Given the description of an element on the screen output the (x, y) to click on. 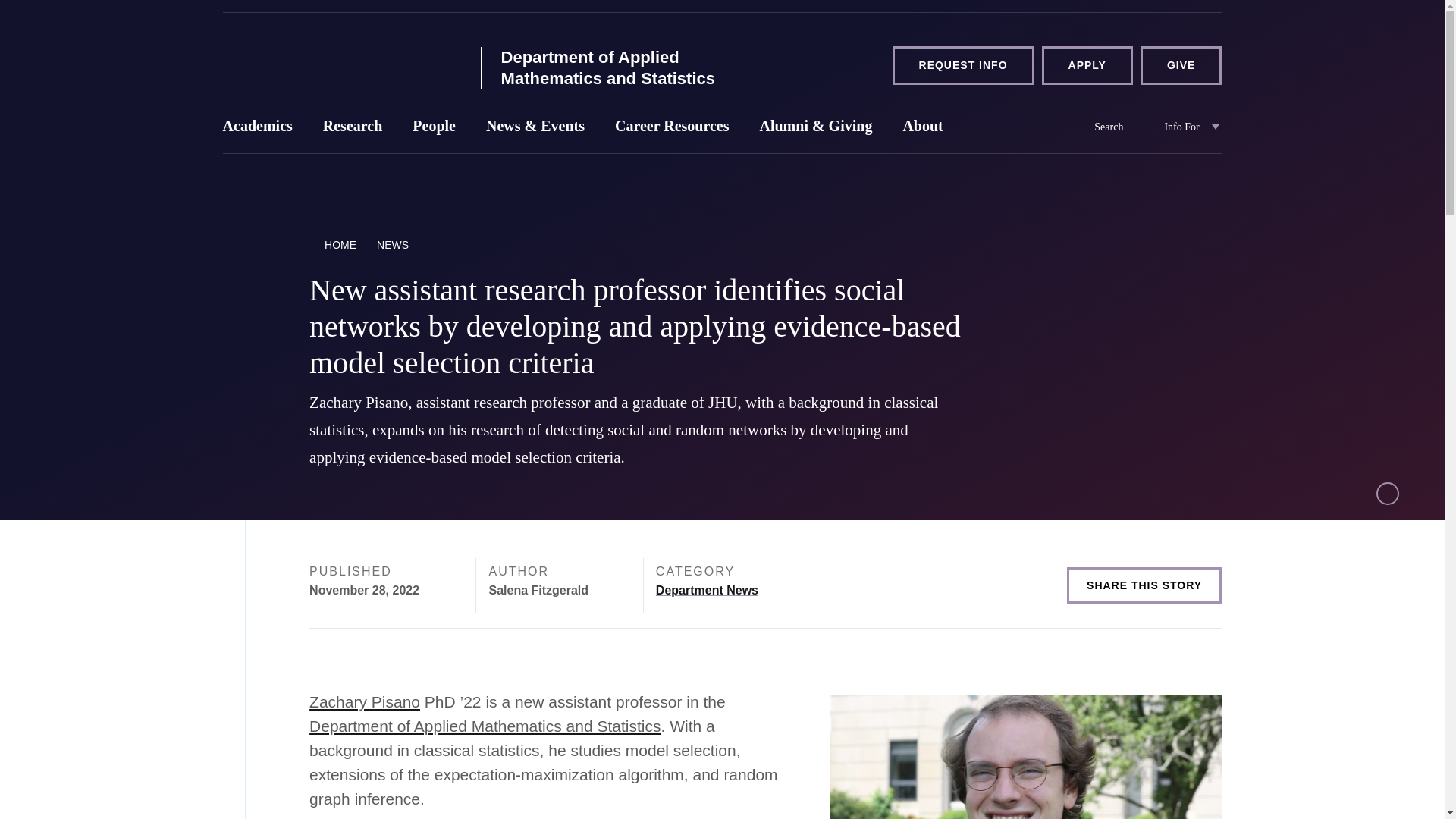
APPLY (1087, 65)
People (433, 130)
Research (352, 130)
Department of Applied Mathematics and Statistics (627, 67)
GIVE (1180, 65)
REQUEST INFO (962, 65)
Academics (257, 130)
Department of Applied Mathematics and Statistics (341, 63)
